Given the description of an element on the screen output the (x, y) to click on. 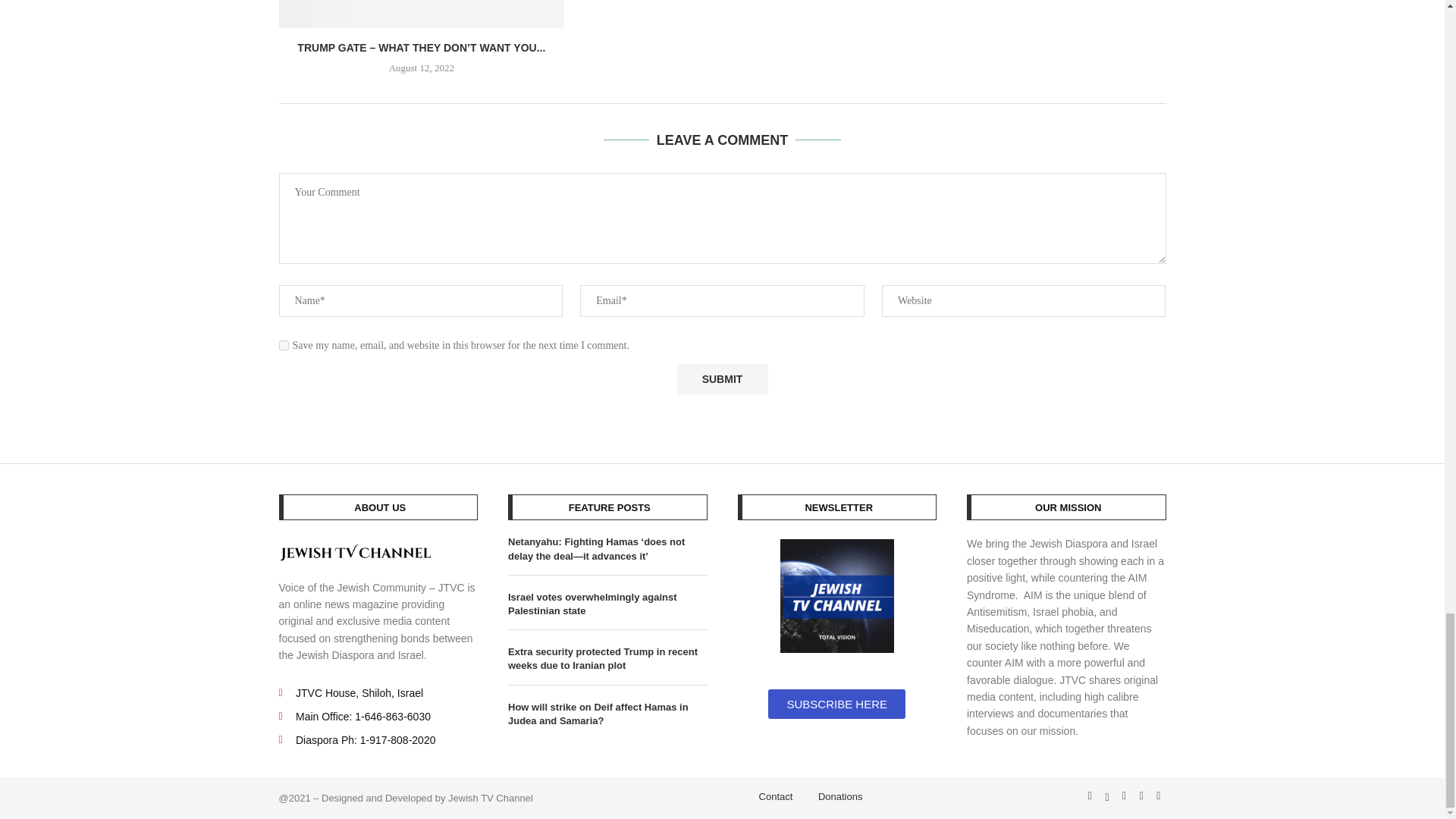
yes (283, 345)
Submit (722, 378)
